Given the description of an element on the screen output the (x, y) to click on. 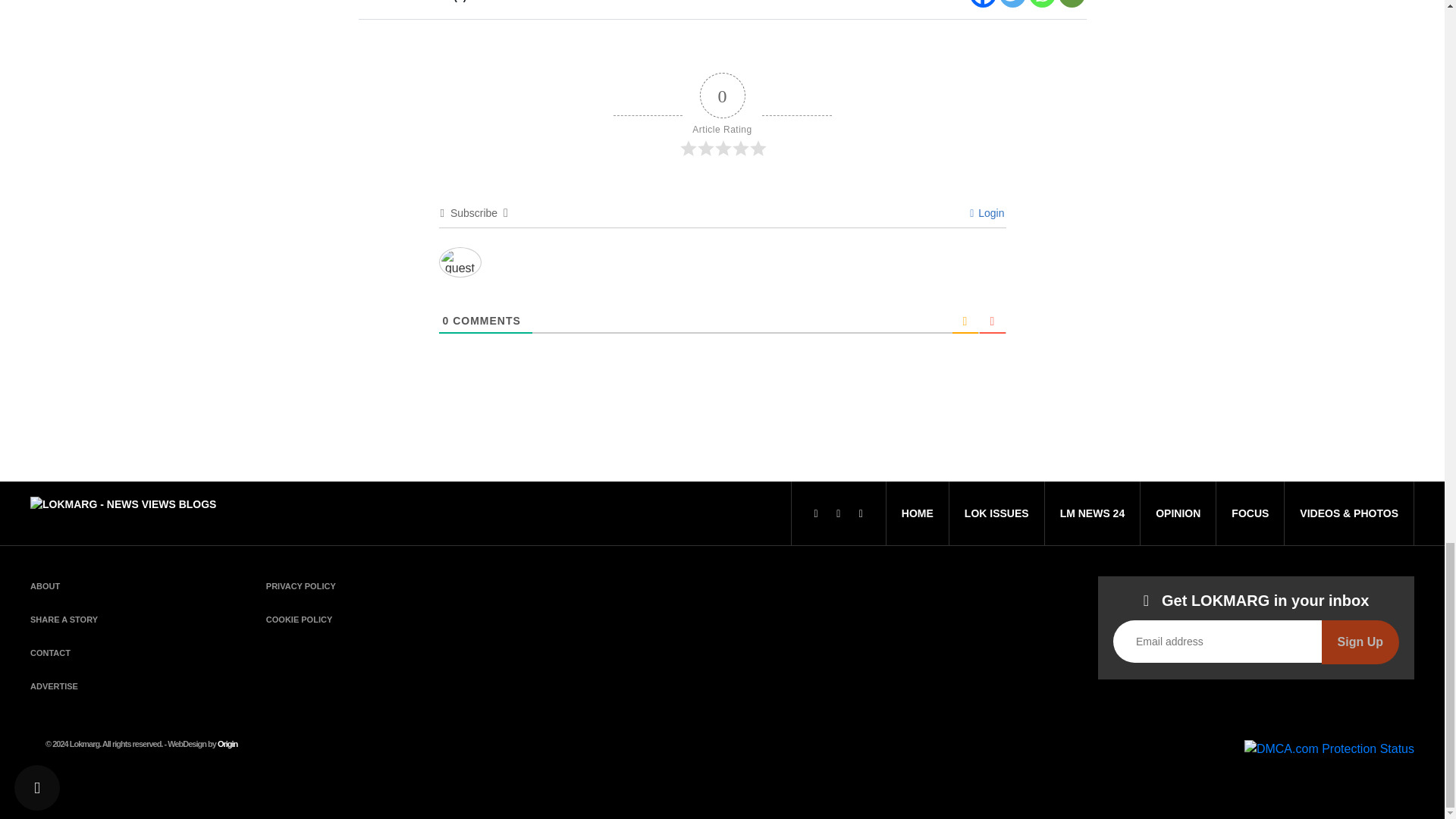
Login (986, 213)
Sign Up (1360, 641)
